Given the description of an element on the screen output the (x, y) to click on. 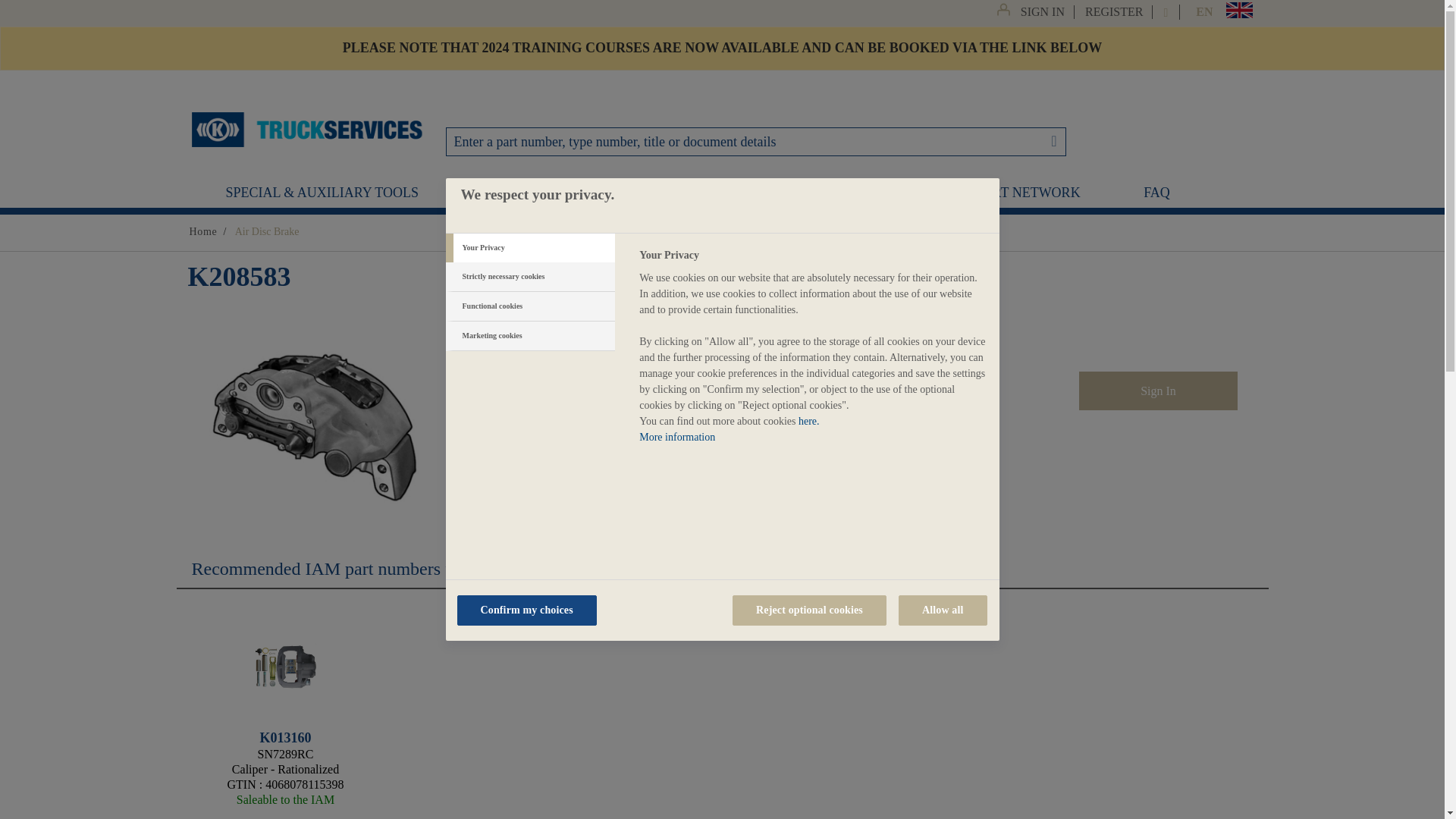
SIGN IN (1043, 11)
Knorr-Bremse (306, 129)
TRAINING (665, 192)
Home (202, 231)
Caliper - Rationalized (285, 666)
EXPERT NETWORK (1019, 192)
on (463, 448)
Caliper - Rationalized (284, 666)
FAQ (1156, 192)
EN (1203, 11)
REGISTER (1115, 11)
DOWNLOADS (525, 192)
